Given the description of an element on the screen output the (x, y) to click on. 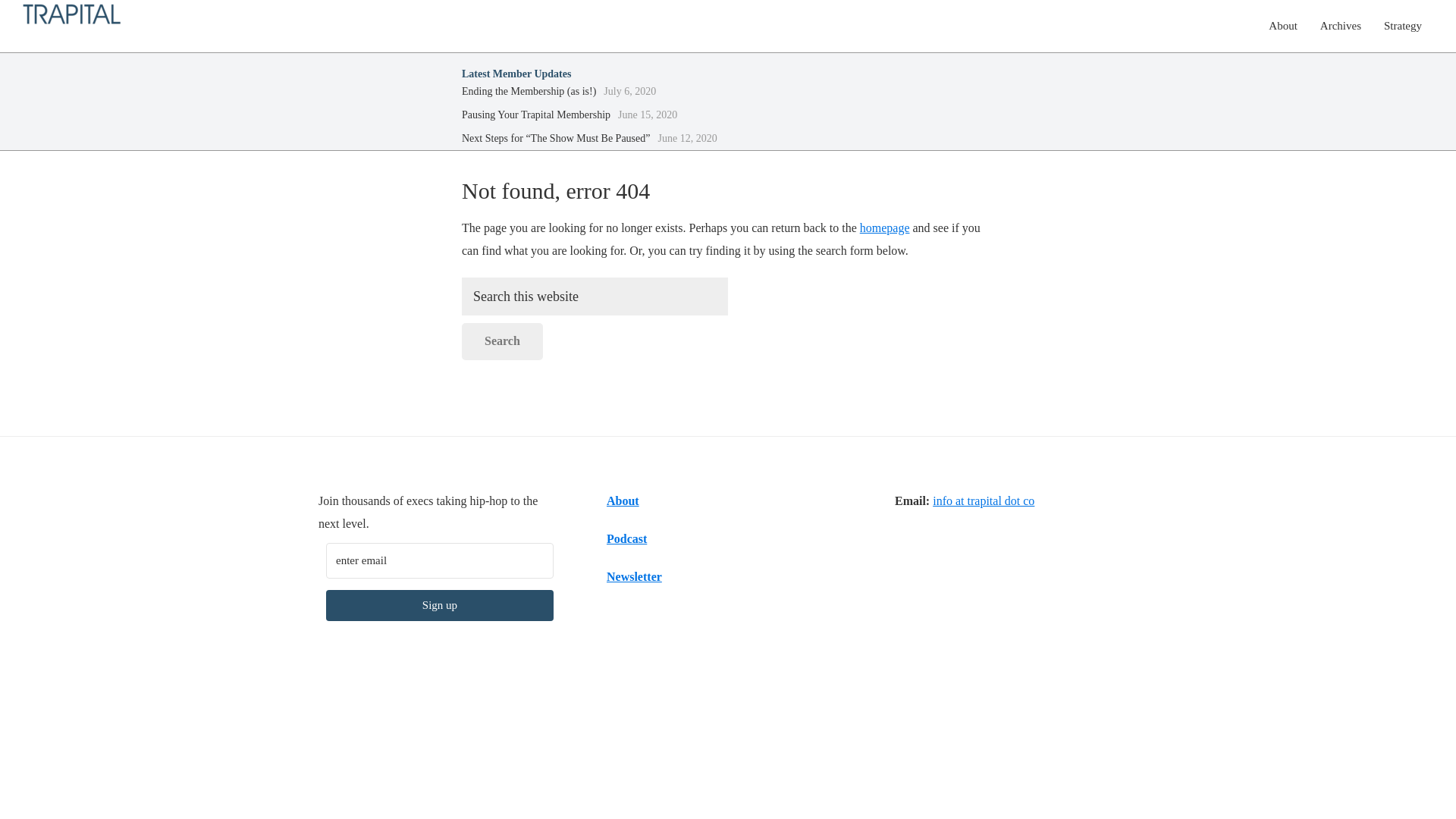
Search (502, 340)
info at trapital dot co (983, 500)
Search (502, 340)
homepage (885, 227)
Strategy (1402, 25)
Newsletter (634, 576)
About (623, 500)
About (1282, 25)
Sign up (439, 604)
Search (502, 340)
Archives (1340, 25)
Pausing Your Trapital Membership (535, 114)
Podcast (626, 538)
